Given the description of an element on the screen output the (x, y) to click on. 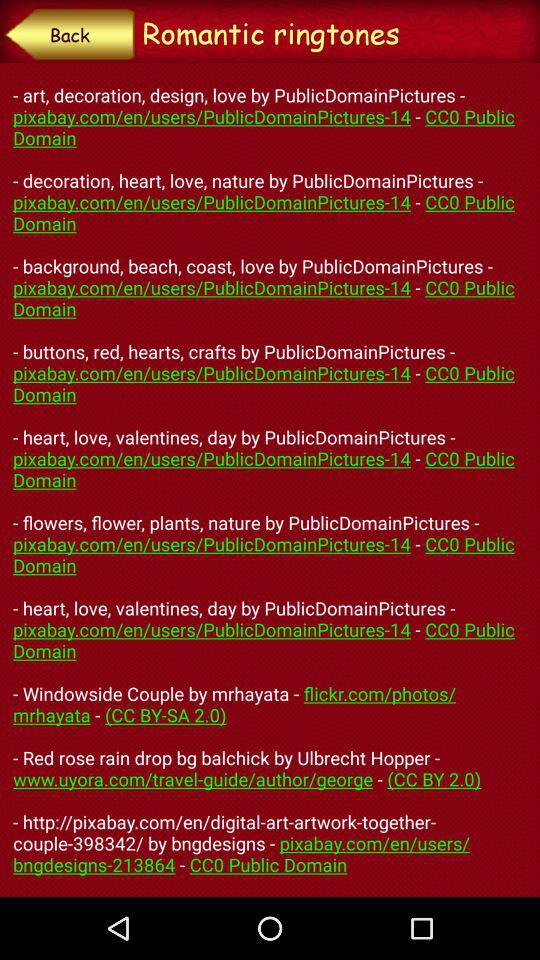
click back button (69, 34)
